Given the description of an element on the screen output the (x, y) to click on. 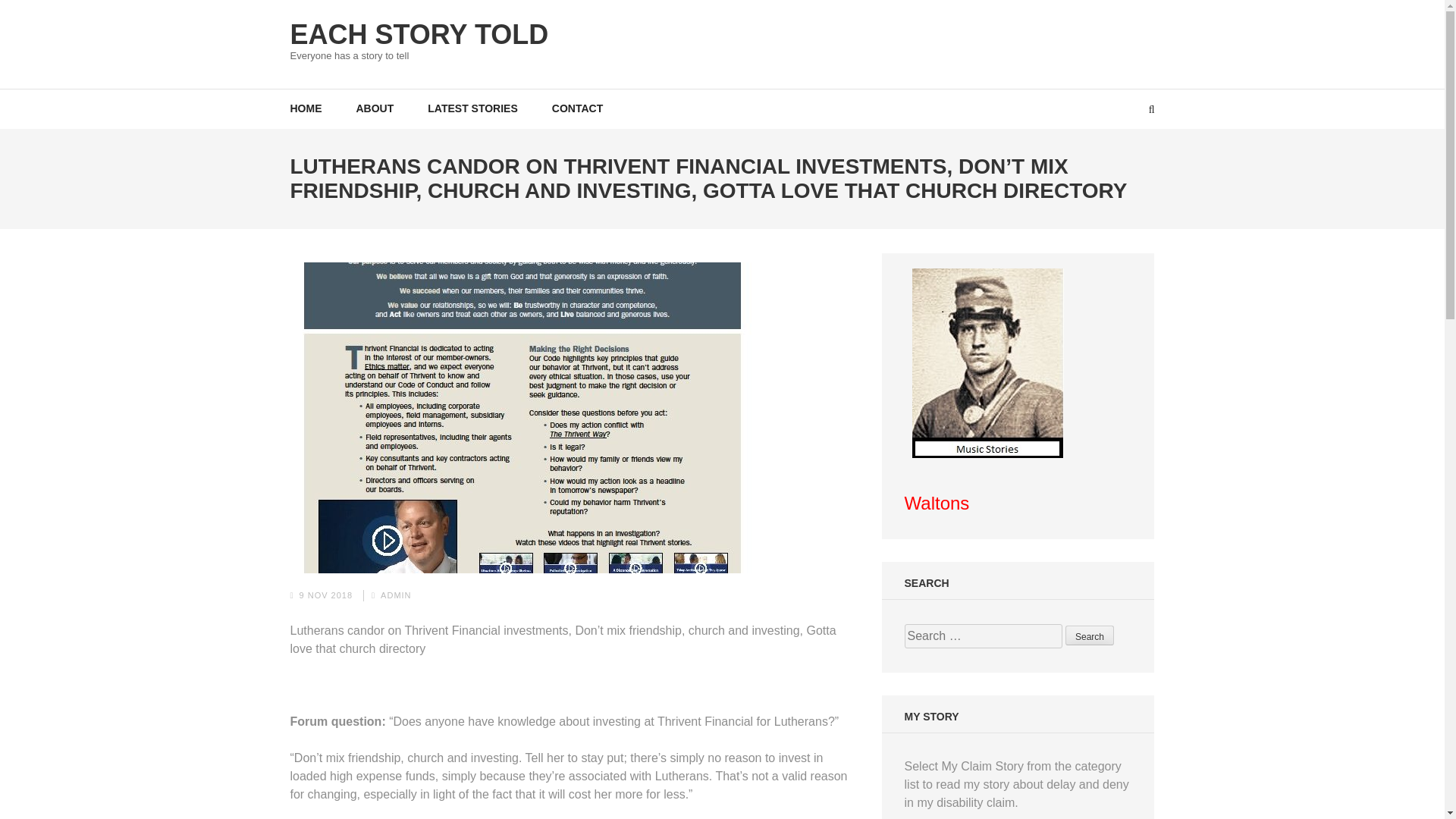
Waltons (936, 504)
Search (1089, 635)
ABOUT (375, 108)
EACH STORY TOLD (418, 33)
LATEST STORIES (473, 108)
CONTACT (576, 108)
Search (1089, 635)
Search (1089, 635)
9 NOV 2018 (326, 593)
ADMIN (395, 593)
